Given the description of an element on the screen output the (x, y) to click on. 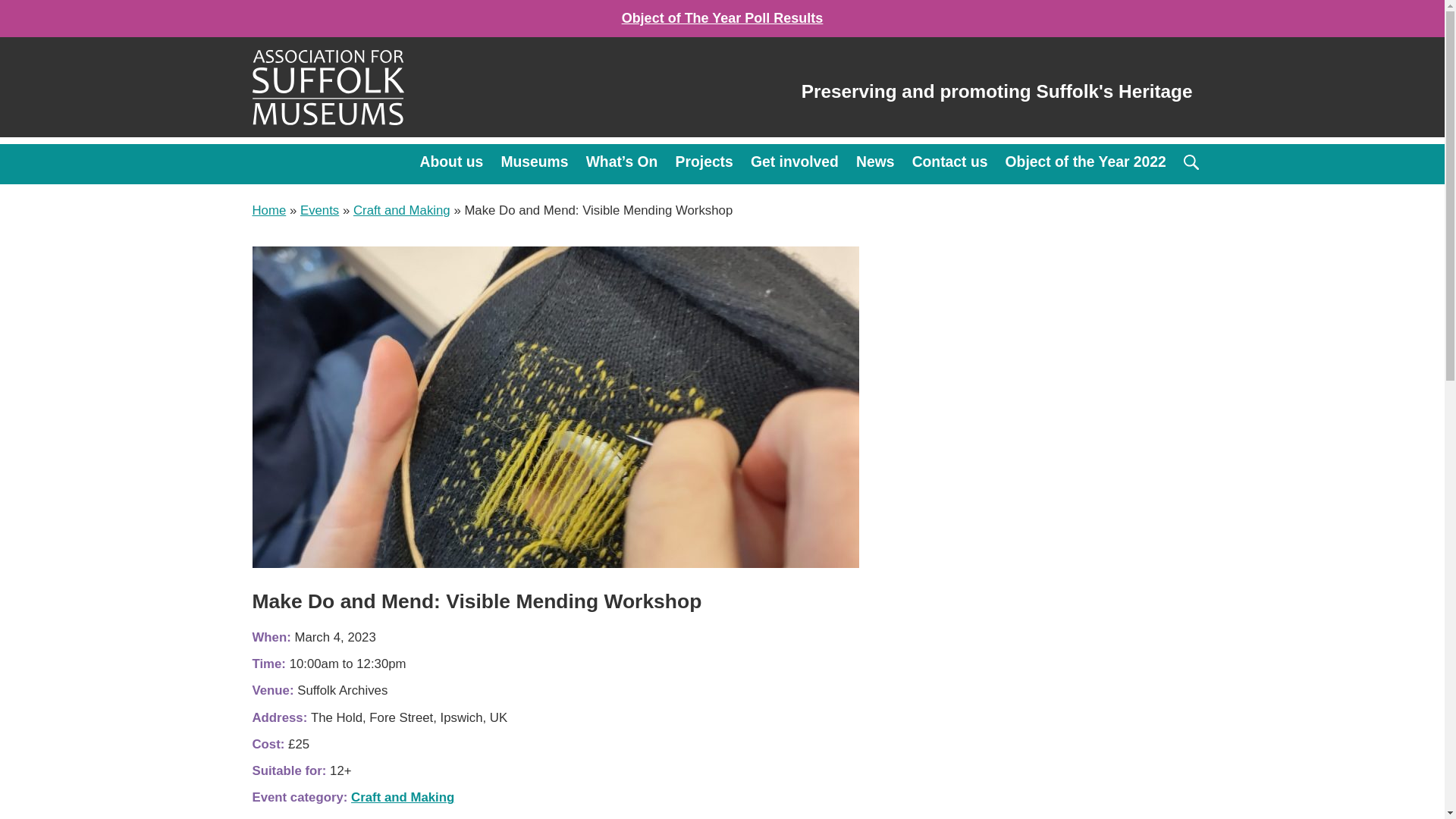
Object of The Year Poll Results (722, 17)
Projects (704, 164)
Museums (533, 164)
About us (451, 164)
search (1190, 161)
